Given the description of an element on the screen output the (x, y) to click on. 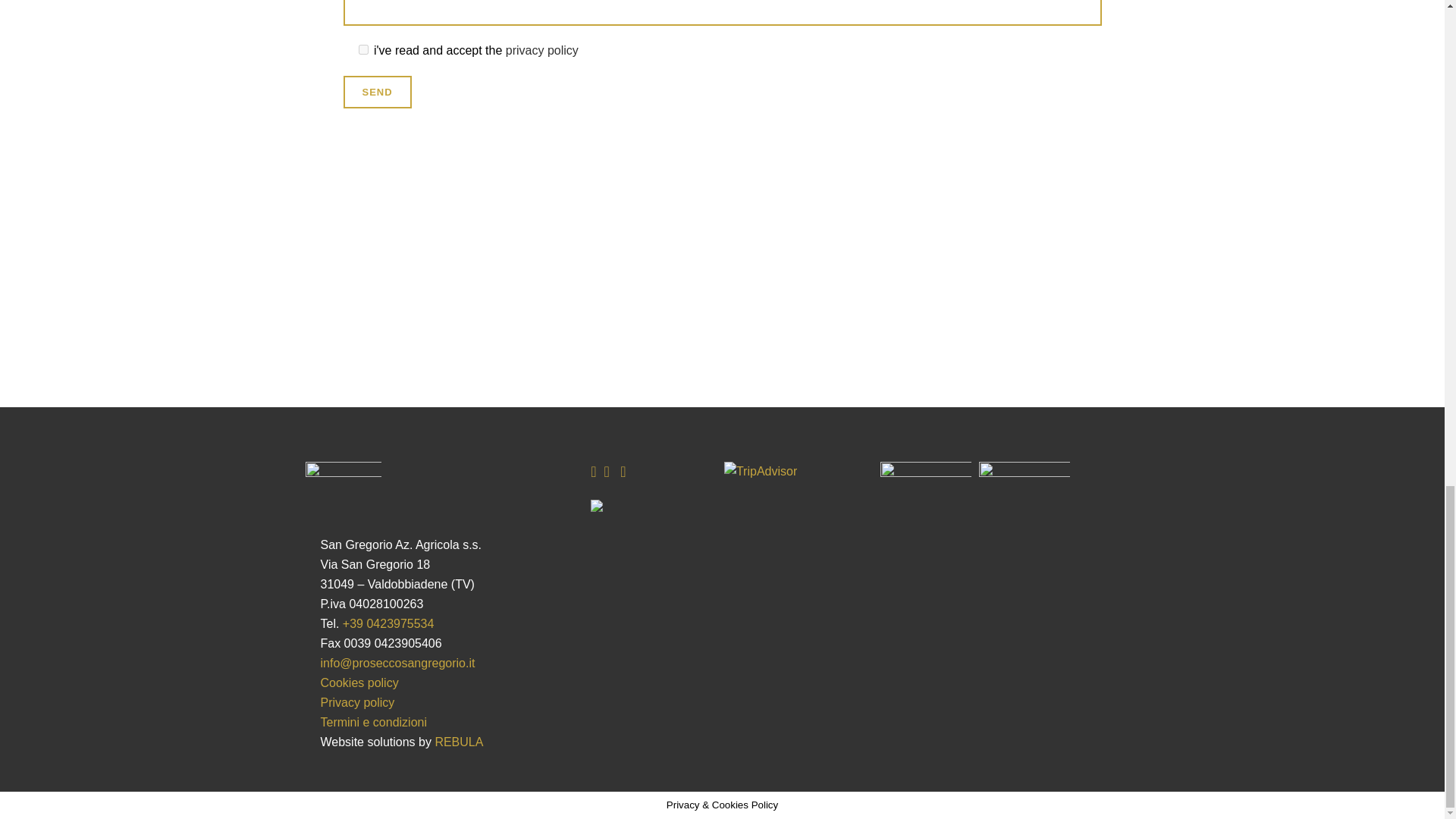
Send (376, 92)
Cookies policy (358, 682)
Send (376, 92)
privacy policy (541, 50)
1 (363, 49)
